Given the description of an element on the screen output the (x, y) to click on. 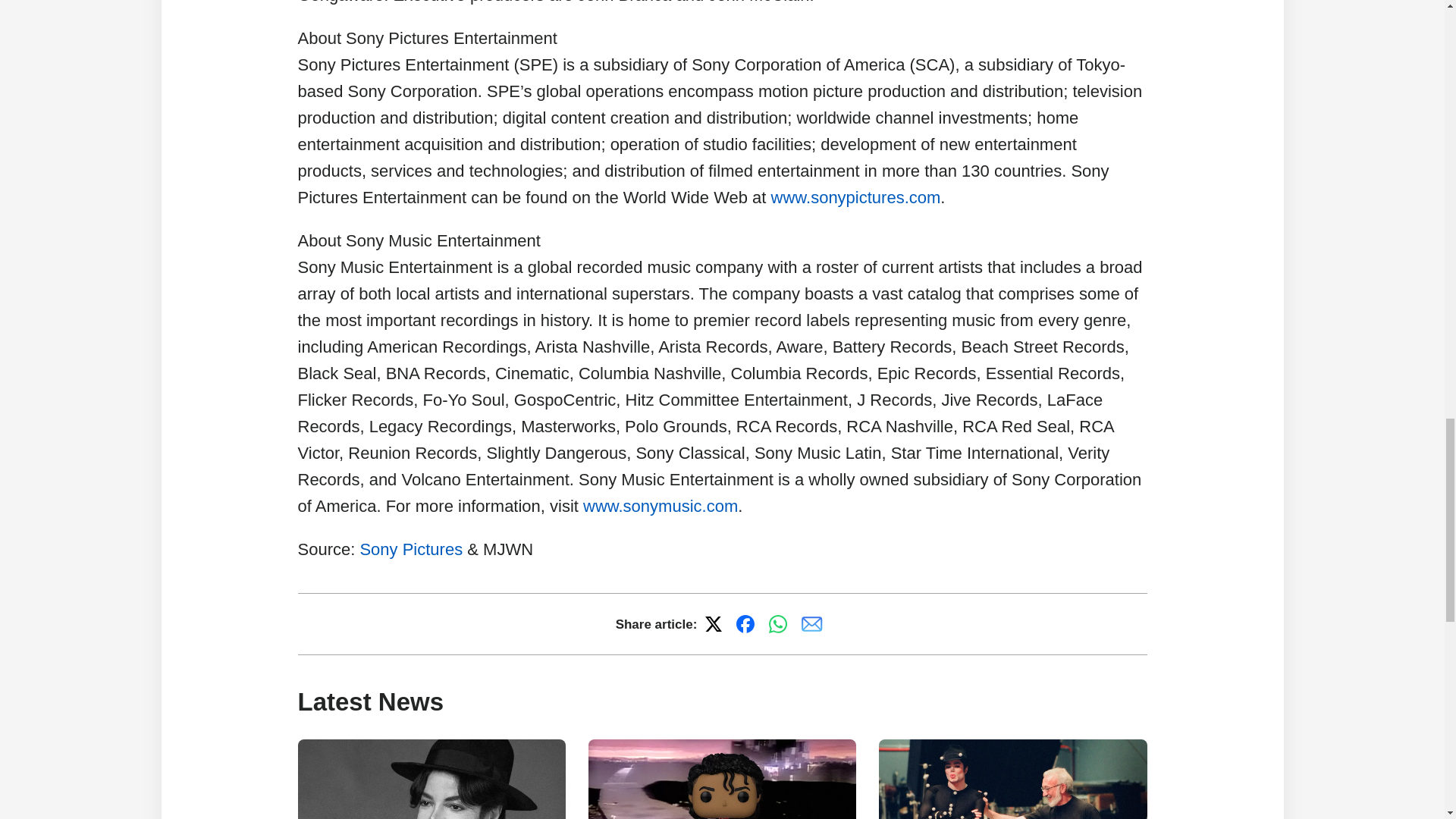
www.sonymusic.com (660, 505)
Sony Pictures (411, 548)
www.sonypictures.com (722, 779)
